Given the description of an element on the screen output the (x, y) to click on. 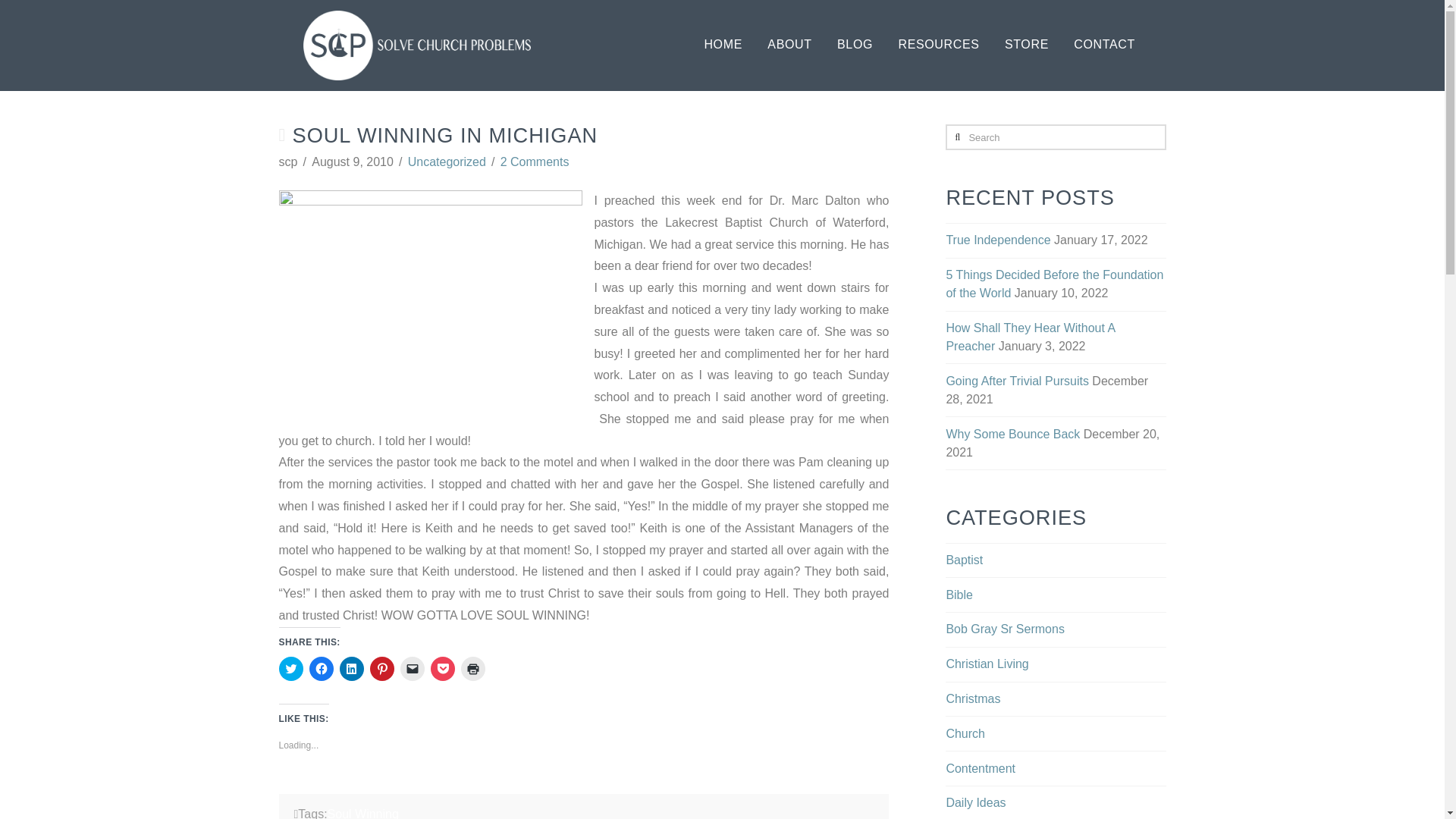
RESOURCES (938, 45)
Click to email a link to a friend (412, 668)
CONTACT (1104, 45)
Click to share on LinkedIn (351, 668)
Click to share on Facebook (320, 668)
Uncategorized (446, 161)
Click to print (472, 668)
Click to share on Twitter (290, 668)
2 Comments (534, 161)
Click to share on Pinterest (381, 668)
